Given the description of an element on the screen output the (x, y) to click on. 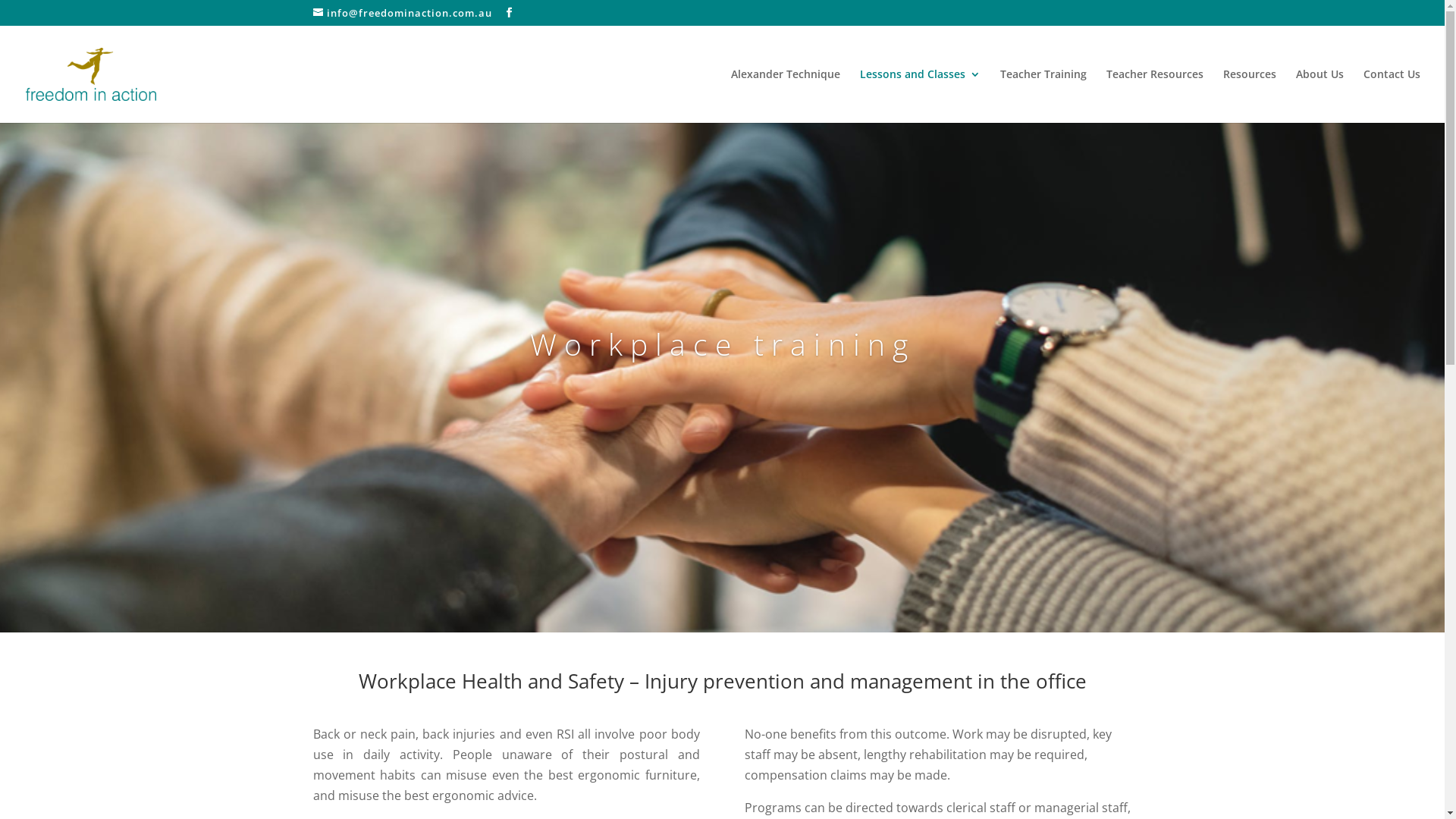
Lessons and Classes Element type: text (919, 95)
Contact Us Element type: text (1391, 95)
Teacher Resources Element type: text (1154, 95)
Teacher Training Element type: text (1043, 95)
About Us Element type: text (1319, 95)
Alexander Technique Element type: text (785, 95)
Resources Element type: text (1249, 95)
info@freedominaction.com.au Element type: text (401, 12)
